Given the description of an element on the screen output the (x, y) to click on. 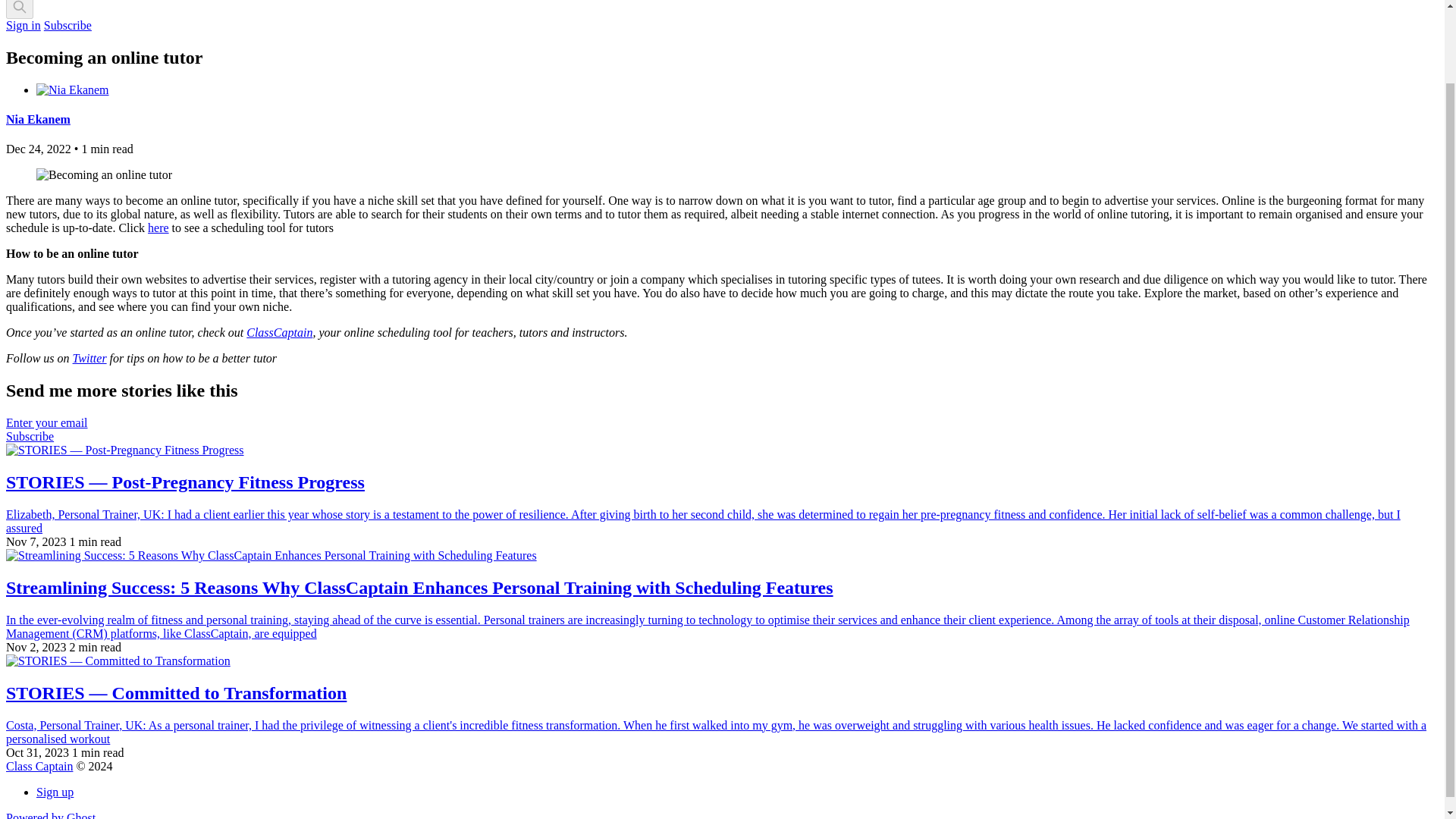
ClassCaptain (279, 332)
Sign up (55, 791)
here (158, 227)
Class Captain (38, 766)
Nia Ekanem (37, 119)
Sign in (22, 24)
Twitter (89, 358)
Subscribe (67, 24)
